Given the description of an element on the screen output the (x, y) to click on. 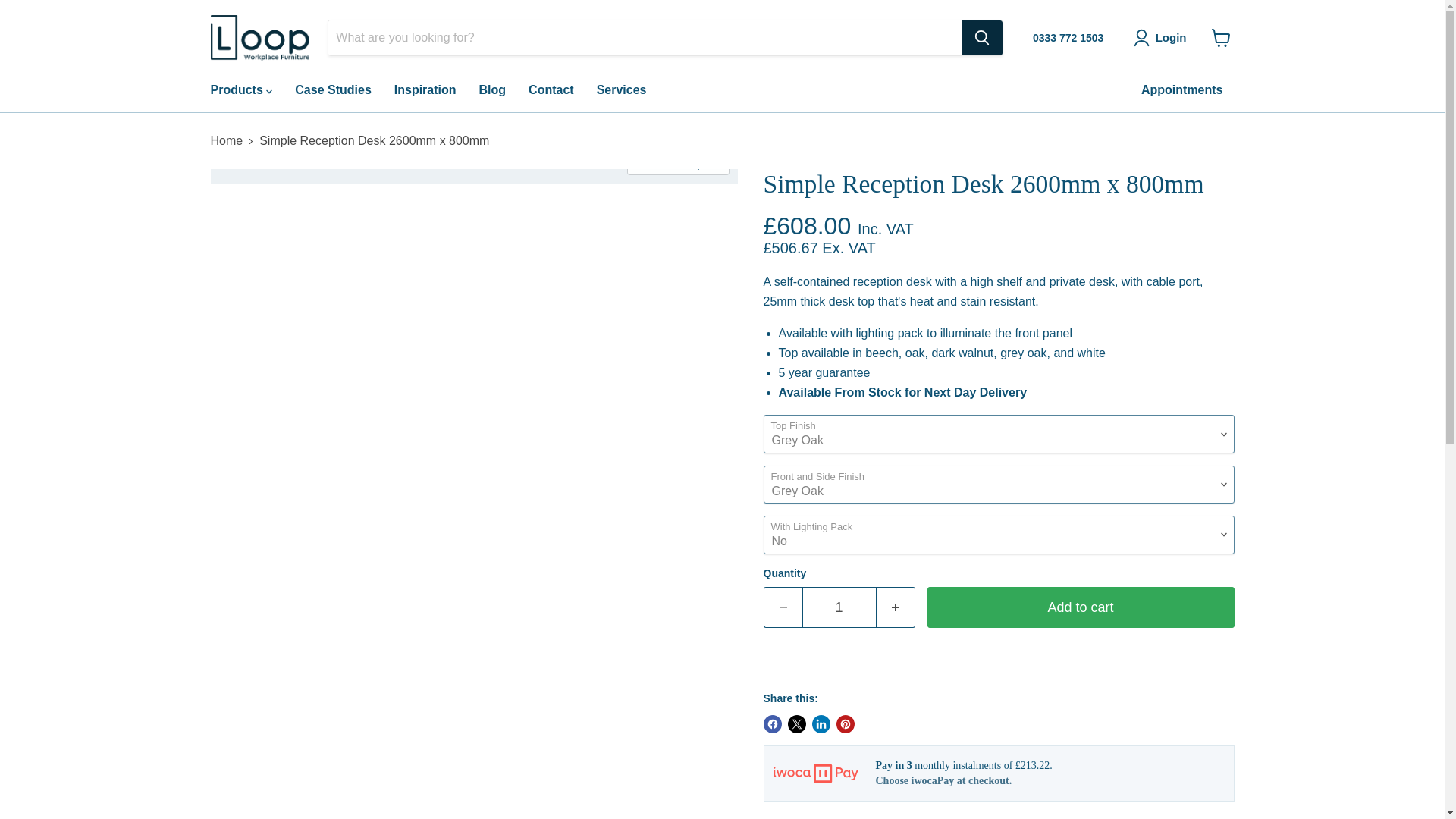
Login (1163, 37)
1 (839, 607)
View cart (1221, 37)
